Given the description of an element on the screen output the (x, y) to click on. 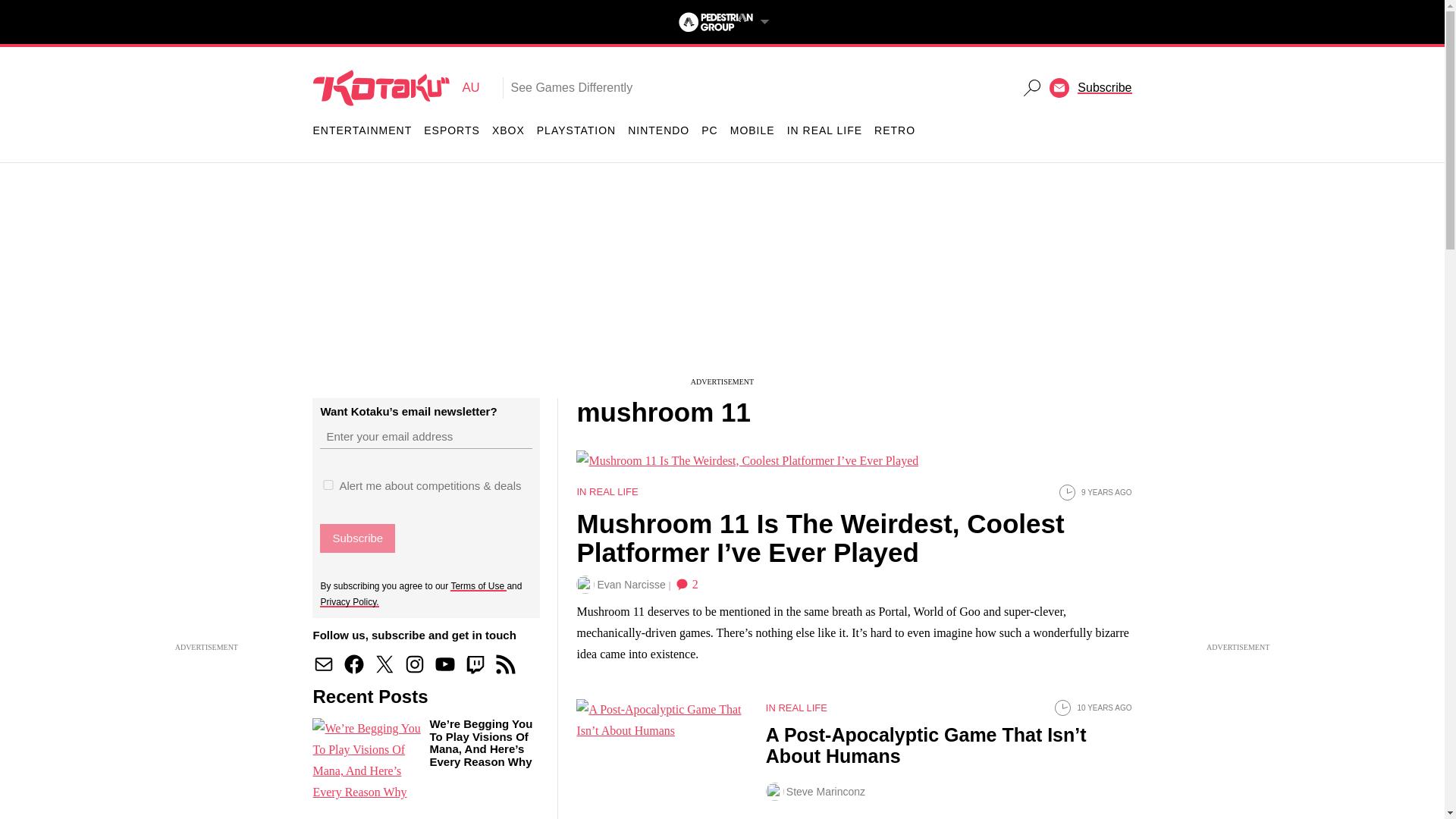
feed (505, 663)
X (384, 663)
PLAYSTATION (576, 130)
youtube (445, 663)
Terms of Use (477, 585)
IN REAL LIFE (824, 130)
Subscribe (357, 538)
Privacy Policy. (349, 601)
ESPORTS (451, 130)
Subscribe (771, 449)
